Given the description of an element on the screen output the (x, y) to click on. 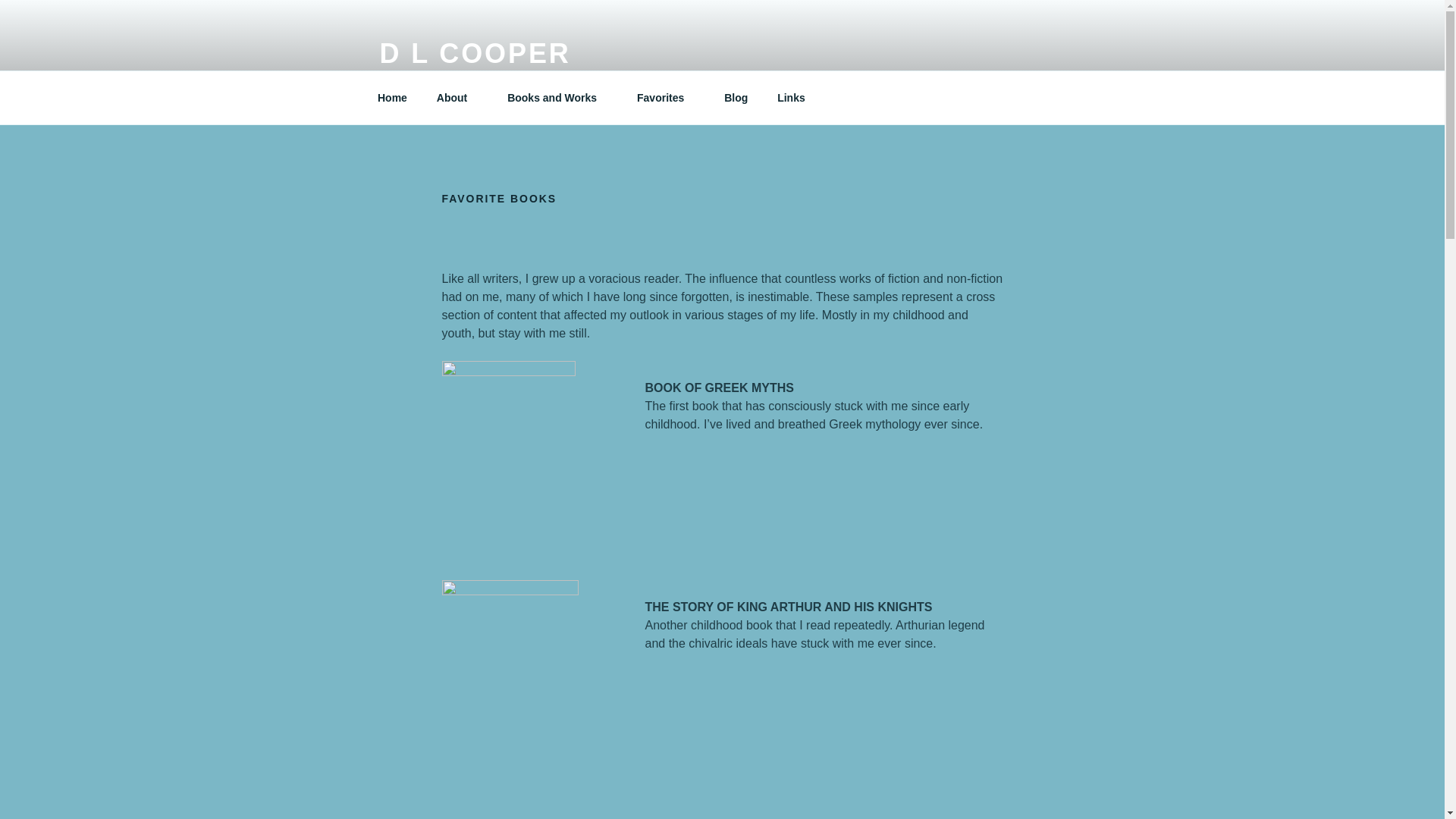
Blog (736, 97)
Favorites (665, 97)
Links (791, 97)
D L COOPER (474, 52)
Home (392, 97)
Books and Works (558, 97)
About (456, 97)
